Given the description of an element on the screen output the (x, y) to click on. 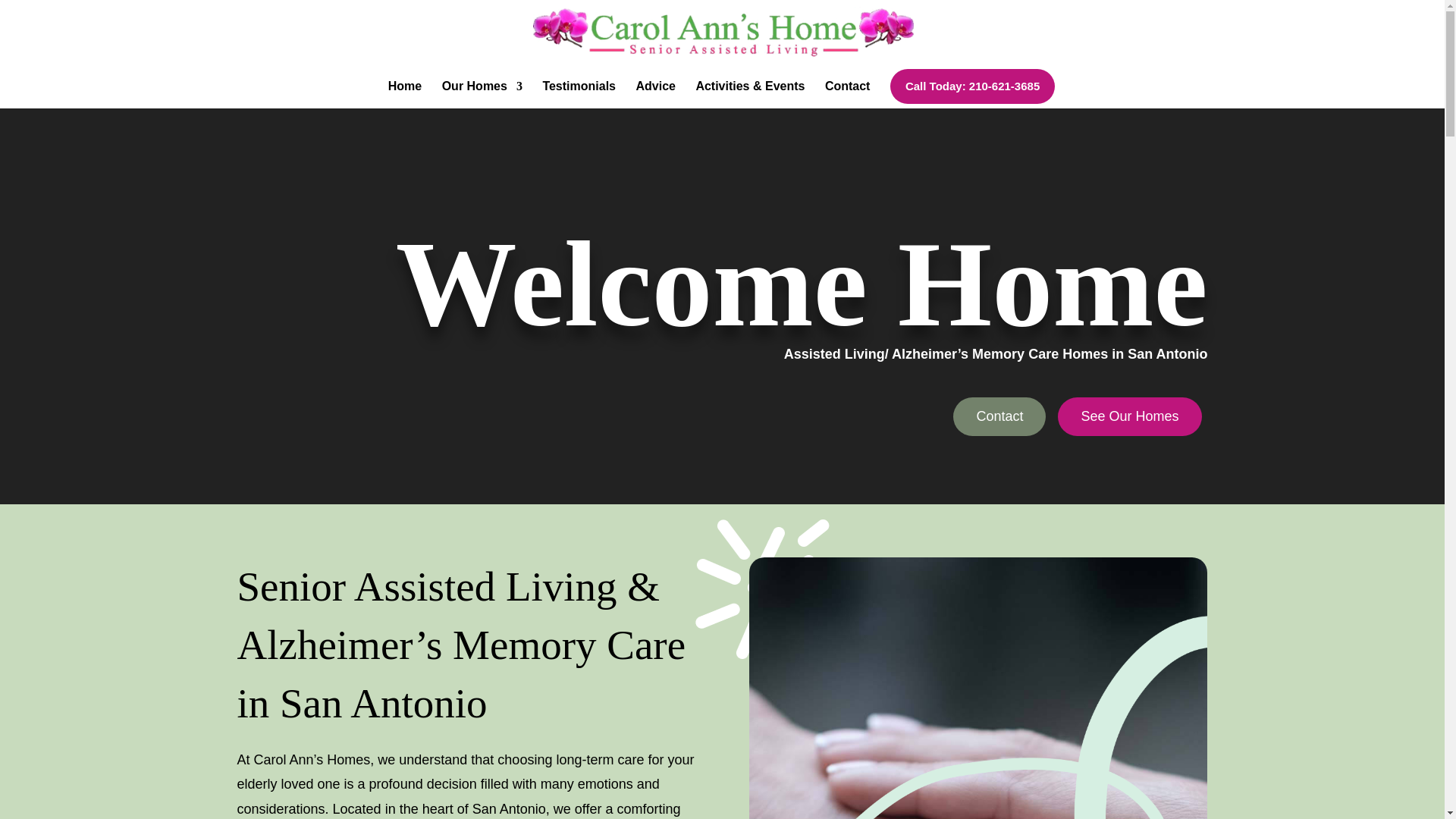
Contact (999, 416)
Reviews for Assisted Living Homes in San Antonio (578, 92)
Our Homes (482, 92)
assisted-living-senior-homes (482, 92)
Call Today: 210-621-3685 (971, 86)
Contact (847, 92)
Home (405, 92)
Advice (654, 92)
See Our Homes (1129, 416)
Assisted Living Homes in San Antonio (405, 92)
Advice For Choosing an Assisted Living Home (654, 92)
Testimonials (578, 92)
